Given the description of an element on the screen output the (x, y) to click on. 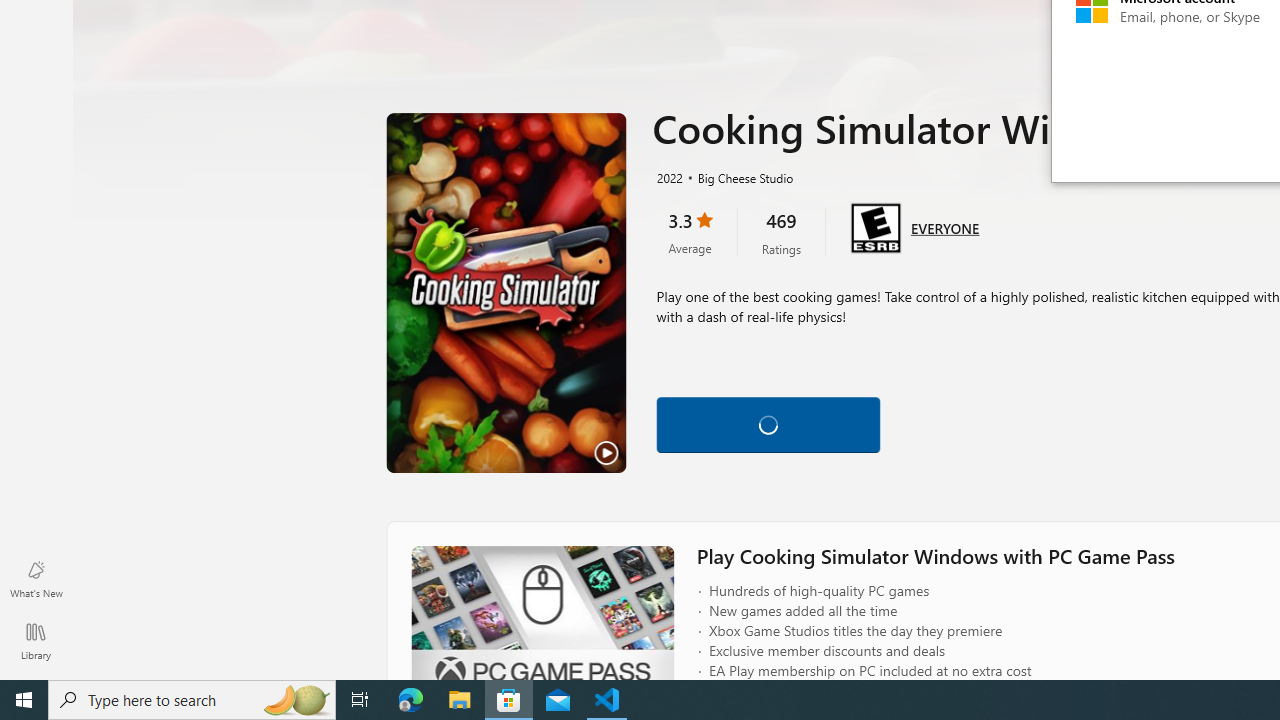
Search highlights icon opens search home window (295, 699)
Microsoft Store - 1 running window (509, 699)
Task View (359, 699)
Library (35, 640)
2022 (667, 177)
3.3 stars. Click to skip to ratings and reviews (689, 232)
What's New (35, 578)
Start (24, 699)
Play Trailer (505, 293)
Buy (1000, 421)
Microsoft Edge (411, 699)
Play with Game Pass (767, 421)
Type here to search (191, 699)
Visual Studio Code - 1 running window (607, 699)
